Given the description of an element on the screen output the (x, y) to click on. 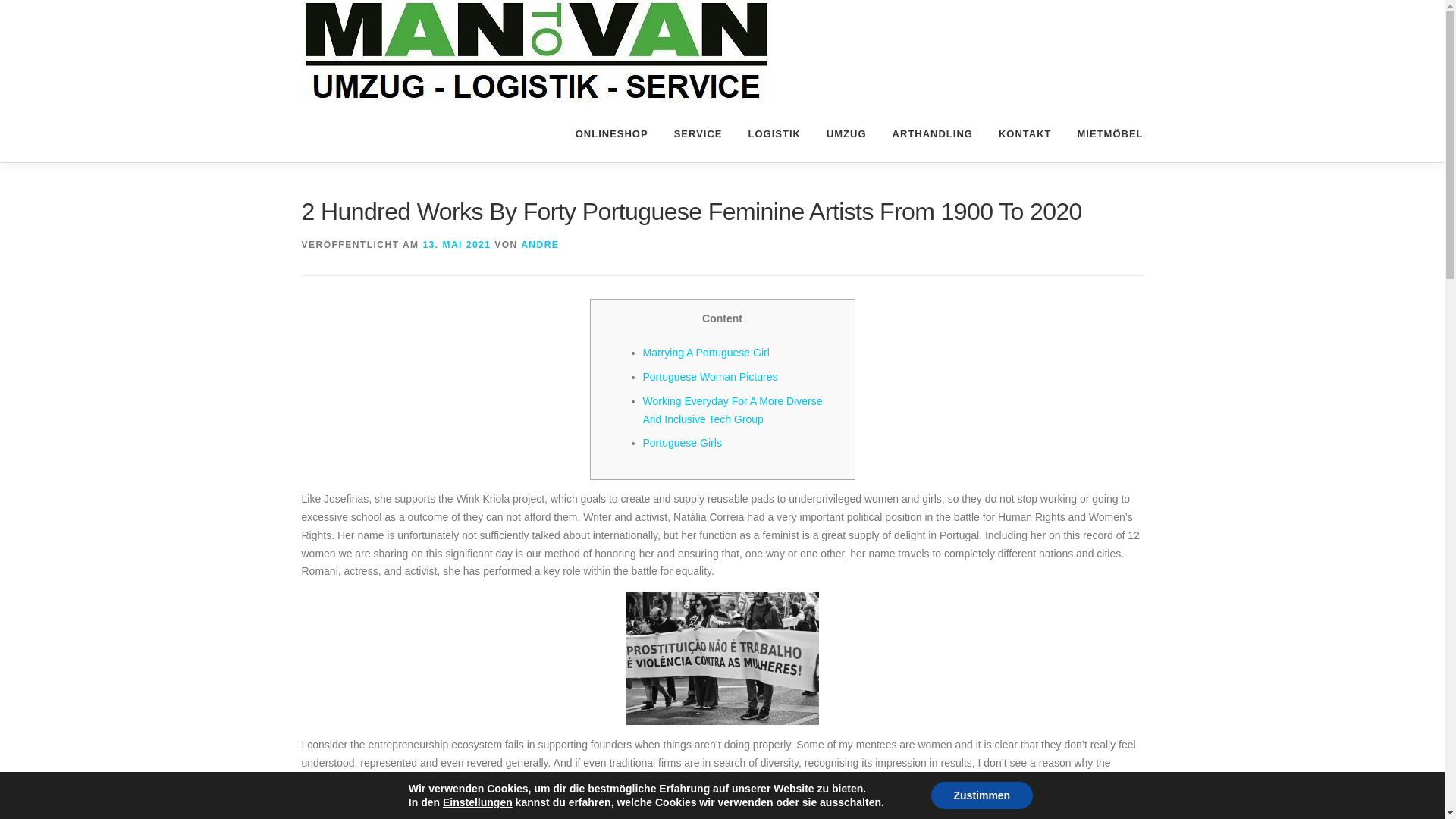
Marrying A Portuguese Girl (706, 352)
Zustimmen (982, 795)
UMZUG (846, 133)
13. MAI 2021 (456, 244)
Portuguese Woman Pictures (710, 377)
SERVICE (698, 133)
KONTAKT (1024, 133)
ANDRE (540, 244)
ARTHANDLING (932, 133)
Working Everyday For A More Diverse And Inclusive Tech Group (732, 409)
LOGISTIK (774, 133)
Einstellungen (477, 802)
ONLINESHOP (611, 133)
Portuguese Girls (682, 442)
